Given the description of an element on the screen output the (x, y) to click on. 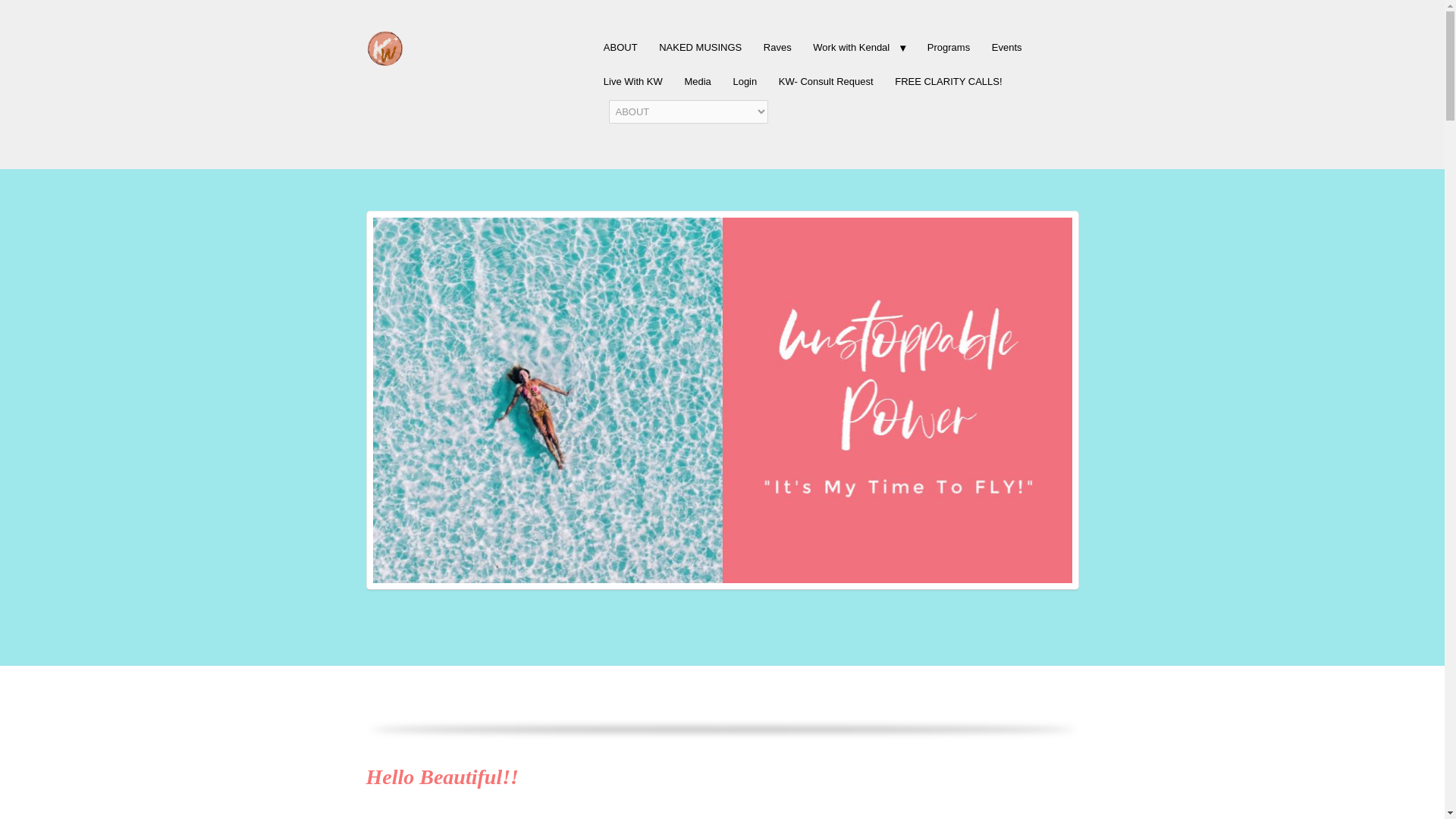
KW- Consult Request (825, 82)
ABOUT (619, 47)
FREE CLARITY CALLS! (948, 82)
Events (1005, 47)
Login (744, 82)
Raves (777, 47)
Programs (949, 47)
Media (697, 82)
KW Coaching  (384, 45)
NAKED MUSINGS (699, 47)
Live With KW (633, 82)
Work with Kendal (859, 47)
